Given the description of an element on the screen output the (x, y) to click on. 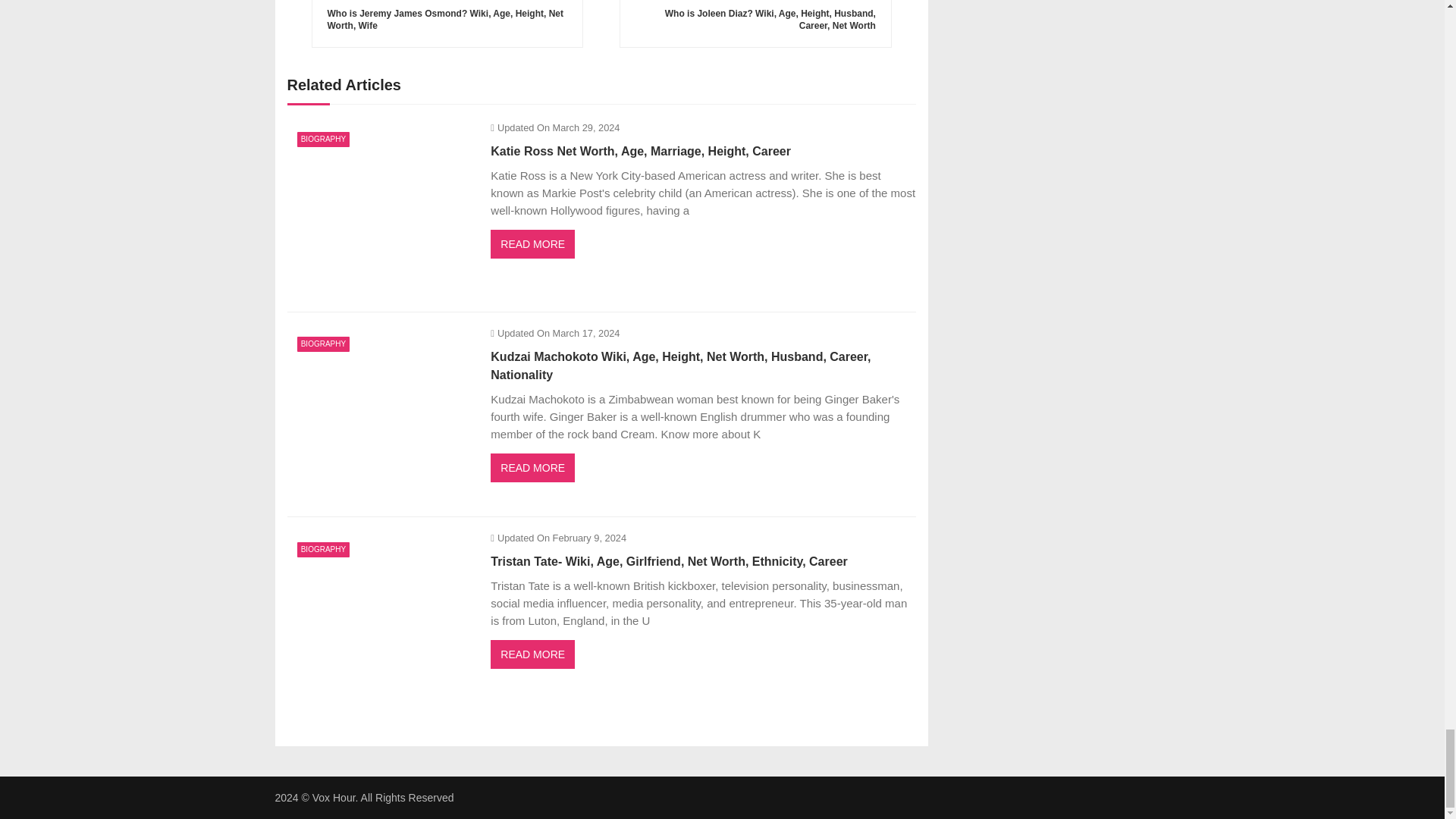
Katie Ross Net Worth, Age, Marriage, Height, Career (381, 209)
